Given the description of an element on the screen output the (x, y) to click on. 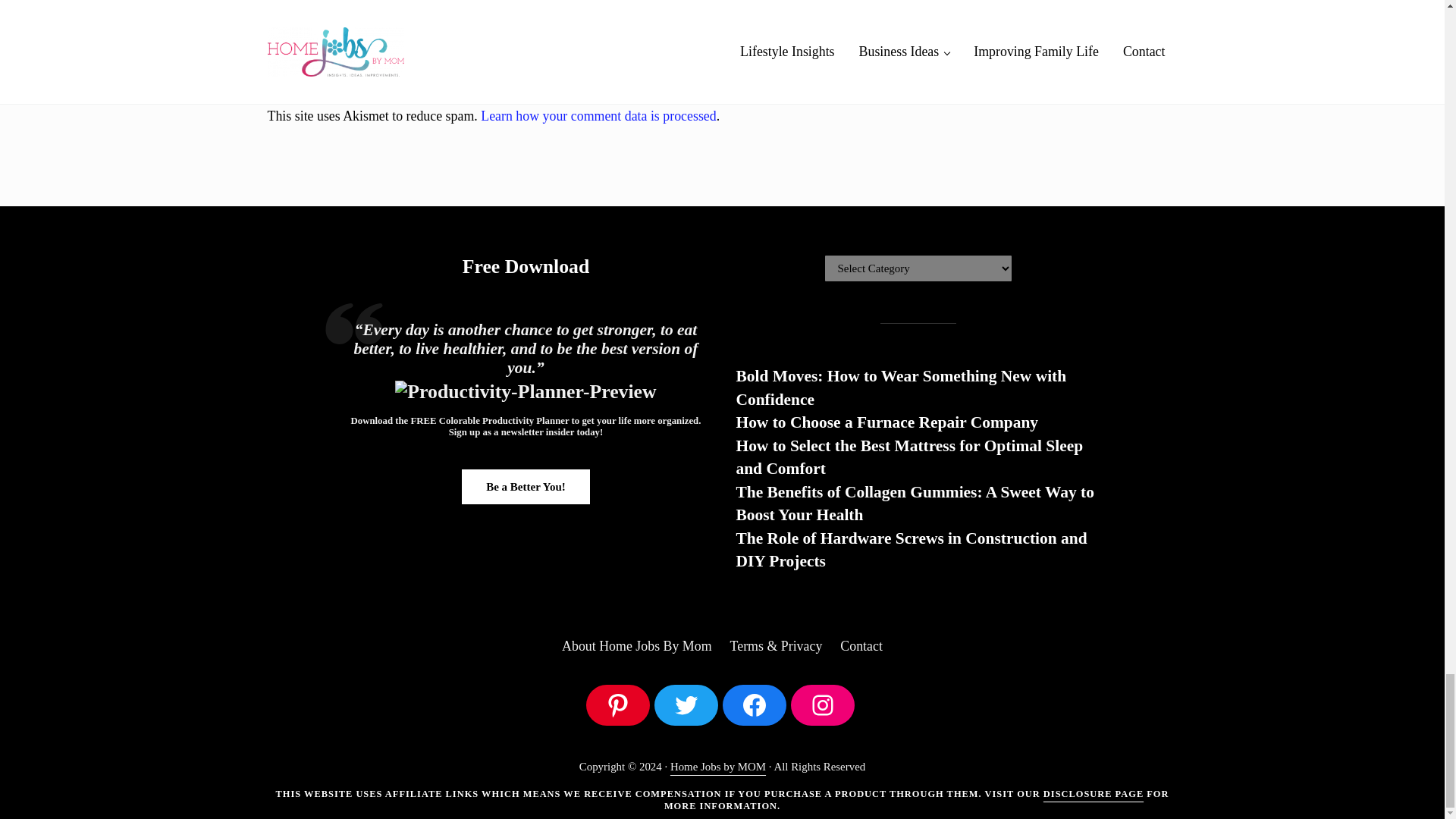
Post Comment (324, 46)
yes (274, 2)
About Home Jobs By Mom (636, 646)
